Given the description of an element on the screen output the (x, y) to click on. 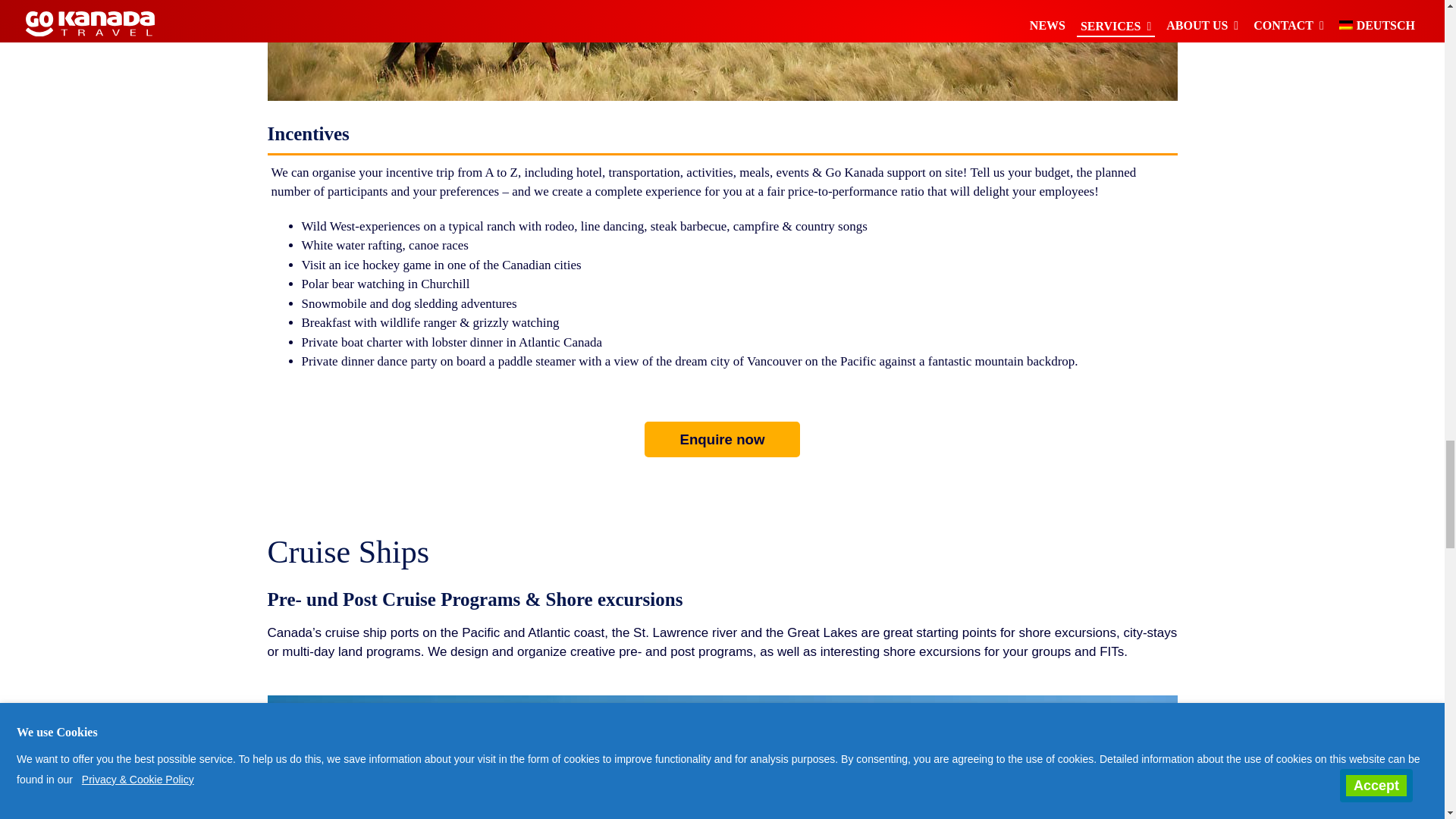
Enquire now (722, 439)
